Given the description of an element on the screen output the (x, y) to click on. 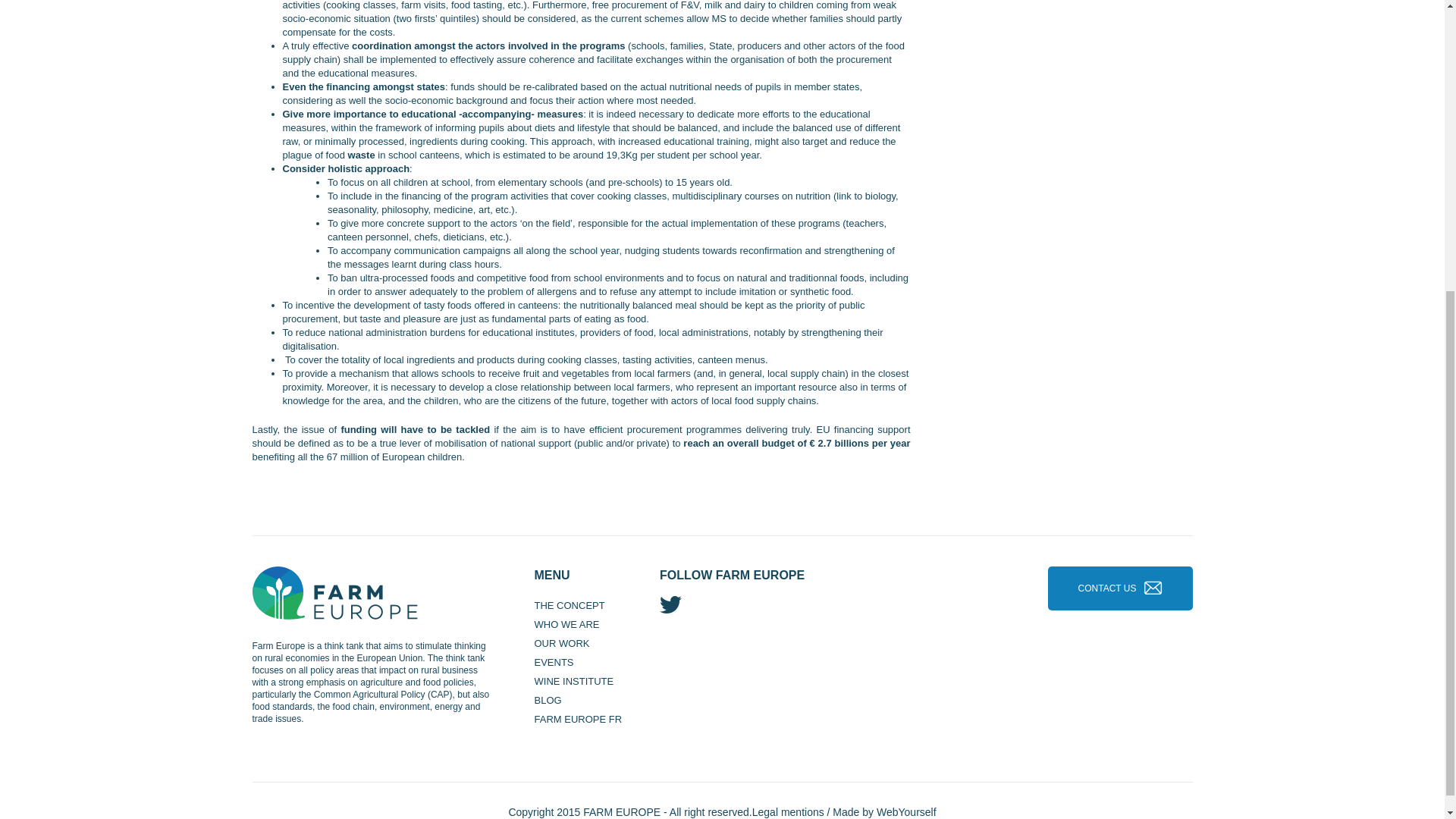
WHO WE ARE (566, 623)
EVENTS (553, 661)
OUR WORK (561, 643)
CONTACT US (1107, 588)
BLOG (547, 699)
FARM EUROPE FR (577, 718)
Legal mentions (788, 811)
WINE INSTITUTE (573, 681)
THE CONCEPT (569, 604)
